Given the description of an element on the screen output the (x, y) to click on. 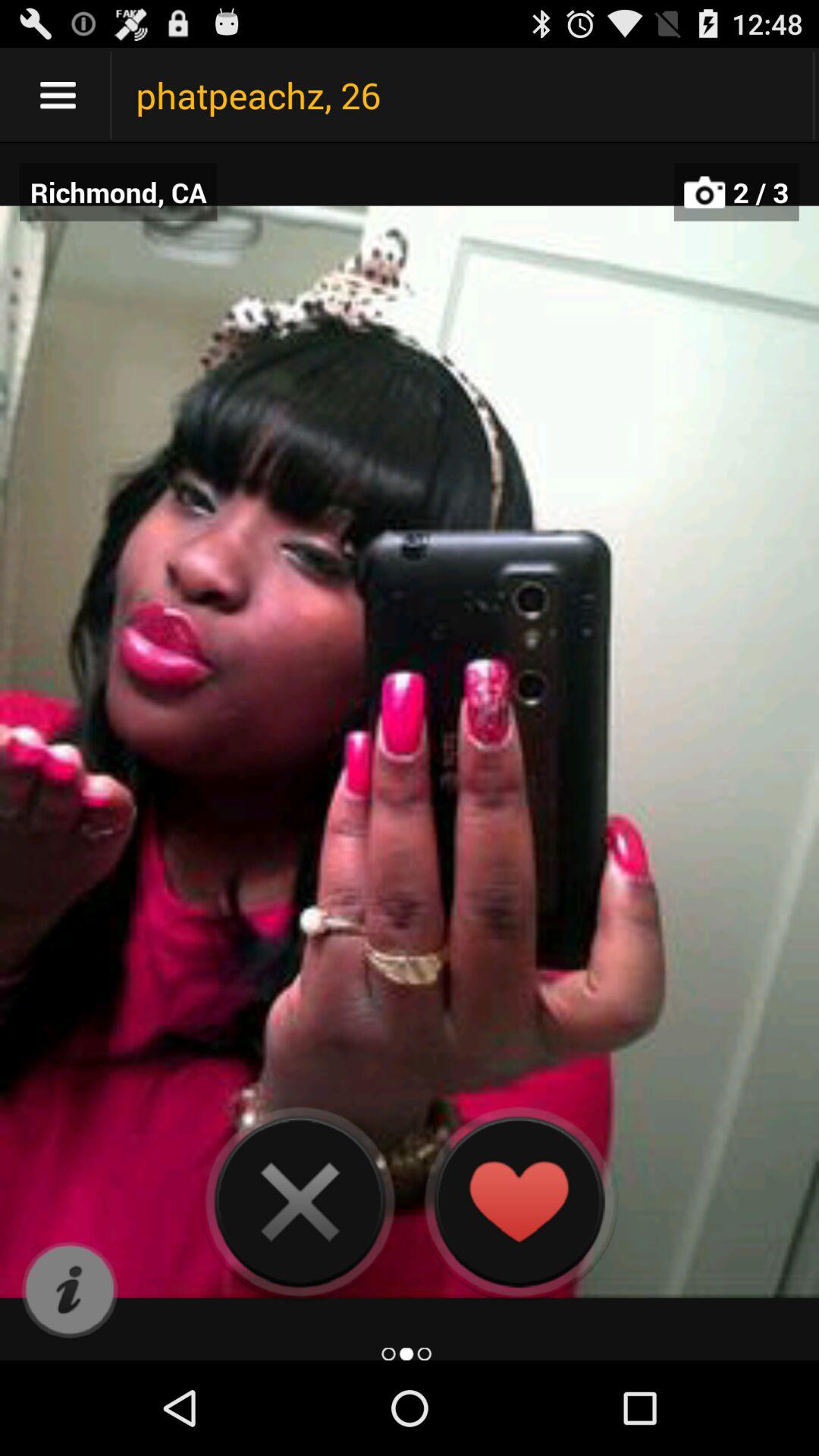
view the information on this women 's profile (69, 1290)
